Given the description of an element on the screen output the (x, y) to click on. 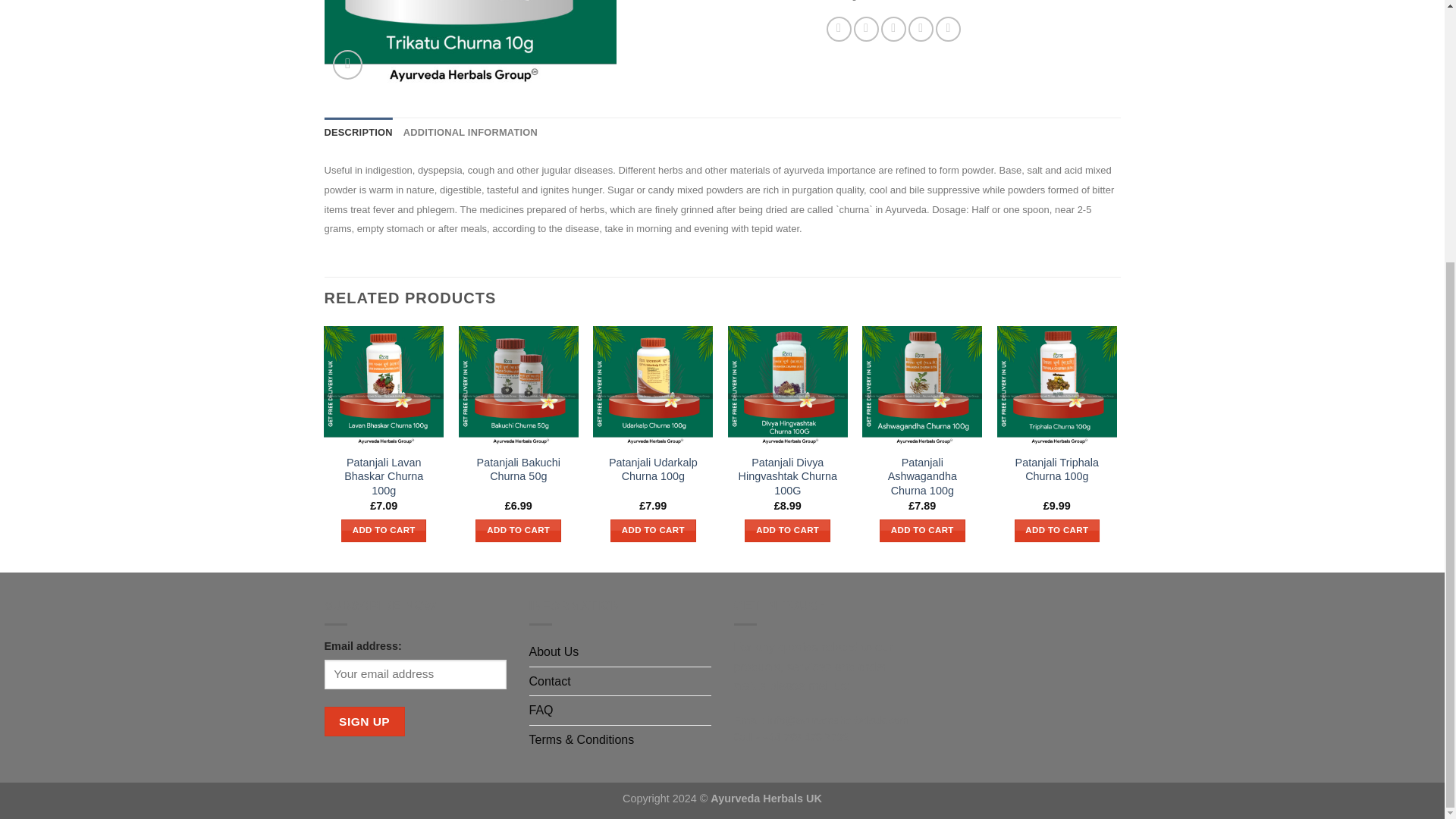
Email to a Friend (892, 28)
Share on Facebook (839, 28)
Share on Twitter (866, 28)
Sign up (364, 721)
Pin on Pinterest (920, 28)
LH1 copy (483, 43)
Zoom (347, 64)
